Given the description of an element on the screen output the (x, y) to click on. 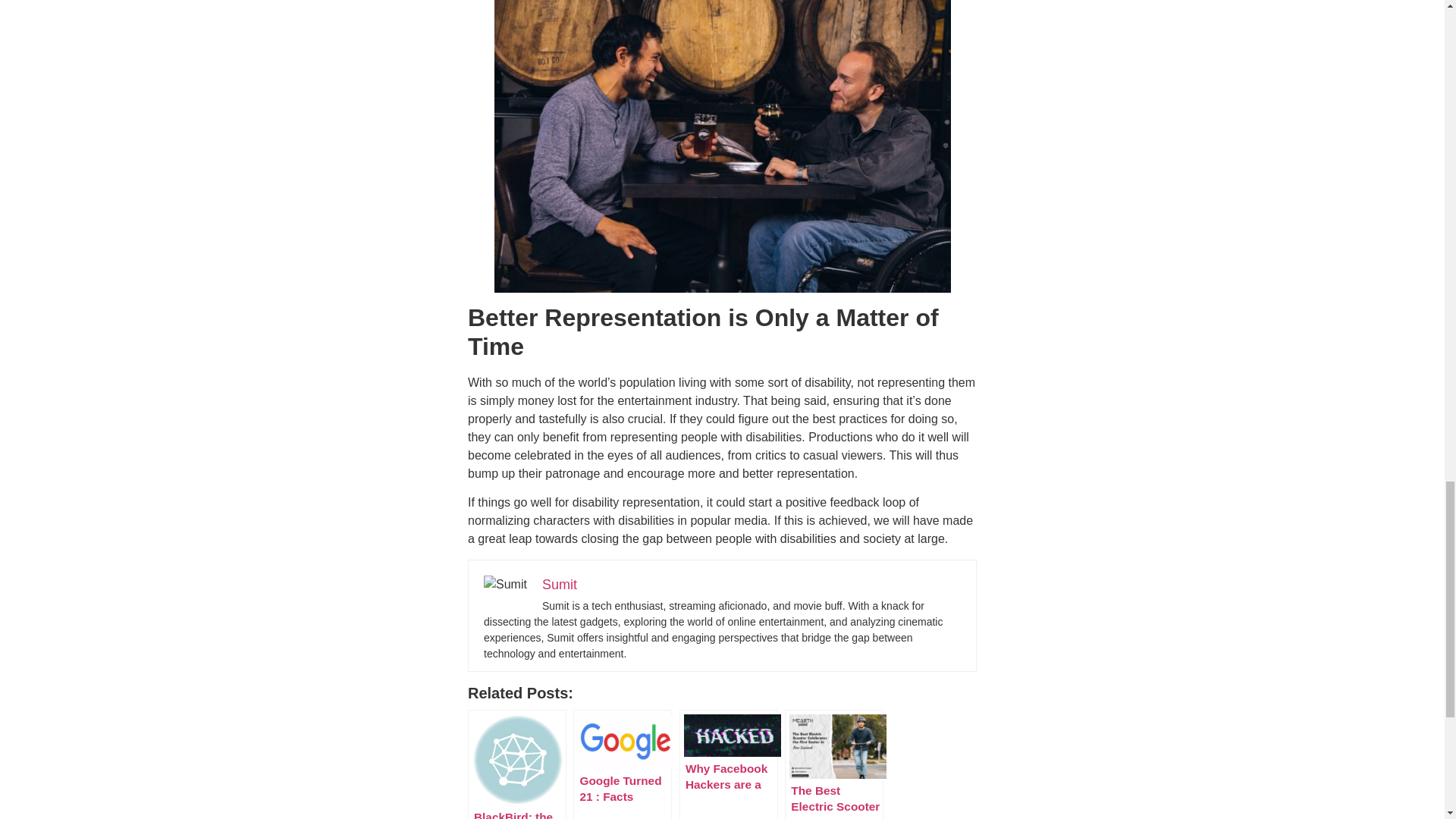
Google Turned 21 : Facts Which You Might Not Know (622, 764)
BlackBird: the Black focused Browser Speaks (516, 764)
